Given the description of an element on the screen output the (x, y) to click on. 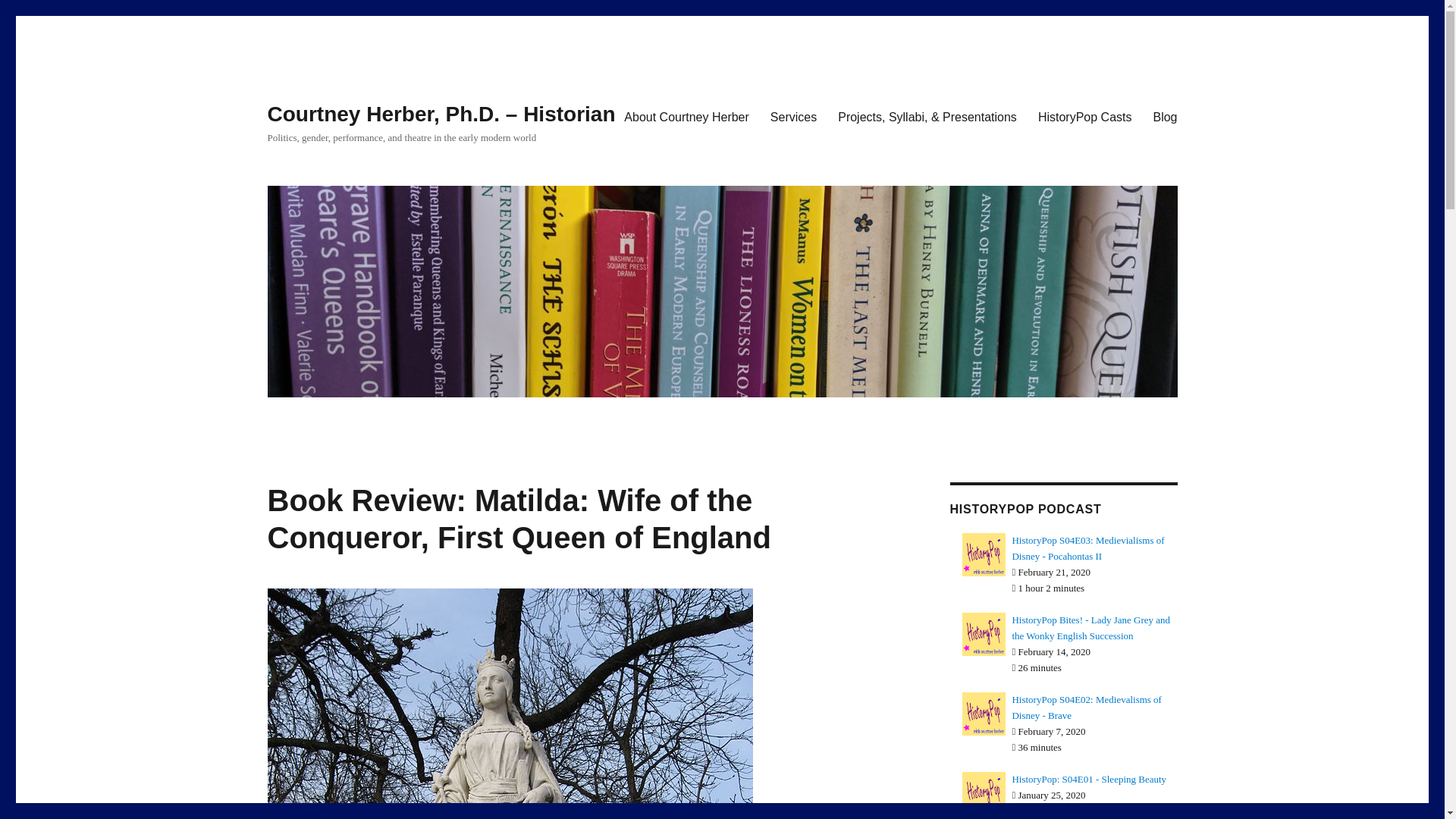
HistoryPop: S04E01 - Sleeping Beauty (1088, 778)
HistoryPop Casts (1084, 116)
HistoryPop S04E02: Medievalisms of Disney - Brave (1086, 707)
About Courtney Herber (686, 116)
HistoryPop S04E03: Medievialisms of Disney - Pocahontas II (1087, 547)
Blog (1164, 116)
Services (793, 116)
